Given the description of an element on the screen output the (x, y) to click on. 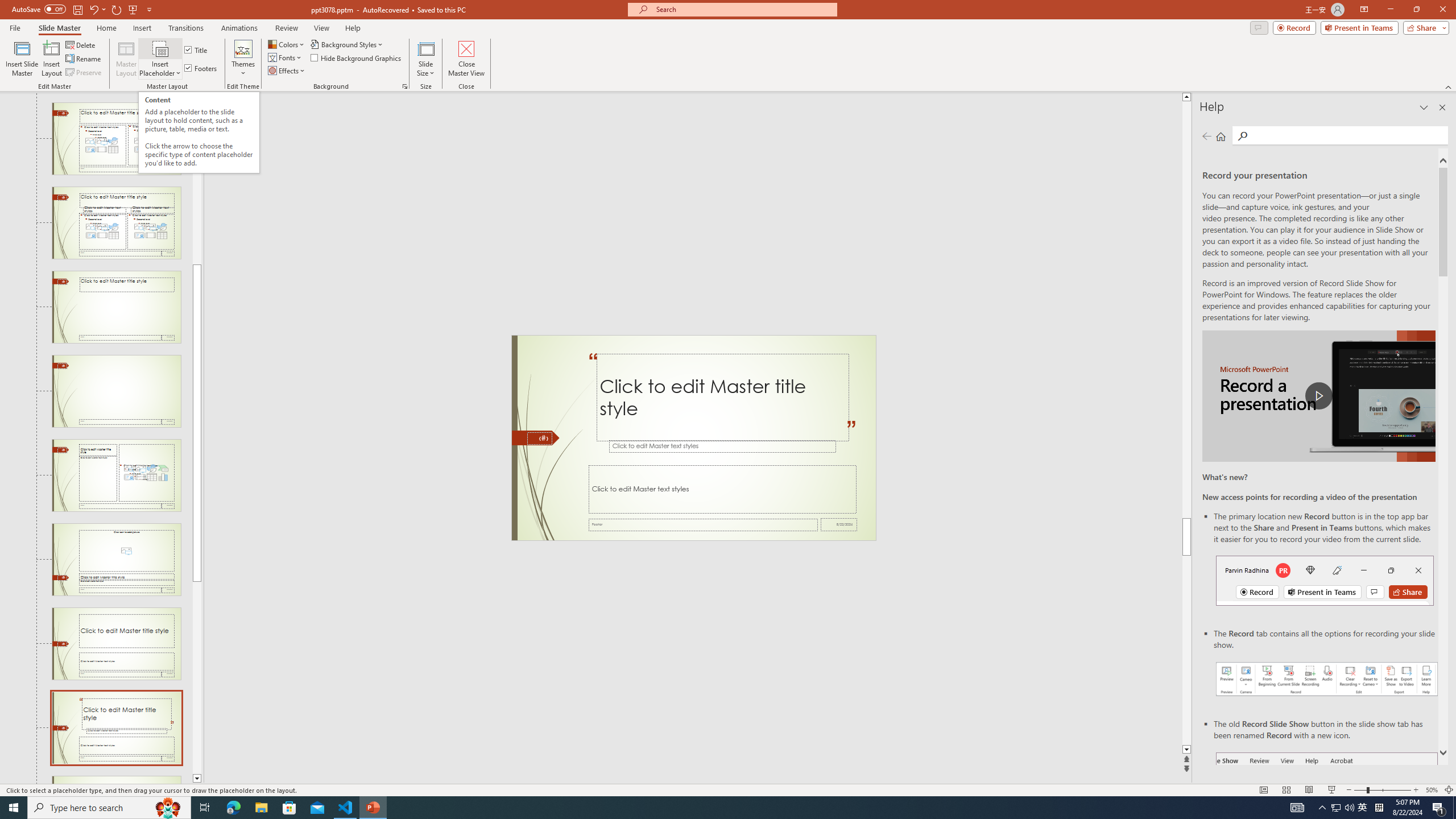
Slide Name Card Layout: used by no slides (116, 779)
Slide Title and Caption Layout: used by no slides (116, 643)
Insert Placeholder (160, 58)
Slide Quote with Caption Layout: used by no slides (116, 728)
Format Background... (404, 85)
Title (196, 49)
Close Master View (466, 58)
